Given the description of an element on the screen output the (x, y) to click on. 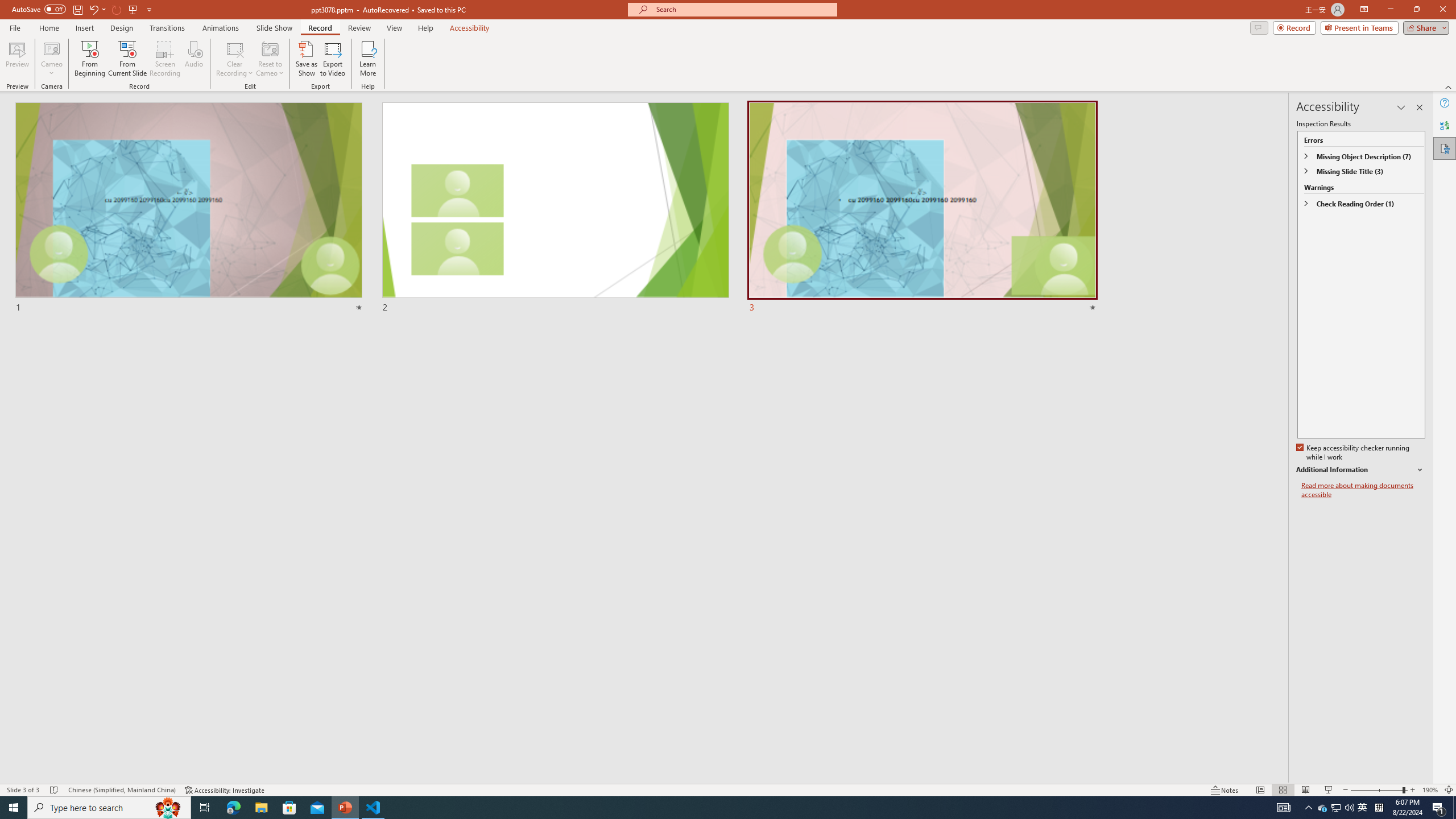
Learn More (368, 58)
Export to Video (332, 58)
Clear Recording (234, 58)
Cameo (51, 48)
From Current Slide... (127, 58)
Preview (17, 58)
Save as Show (306, 58)
